Given the description of an element on the screen output the (x, y) to click on. 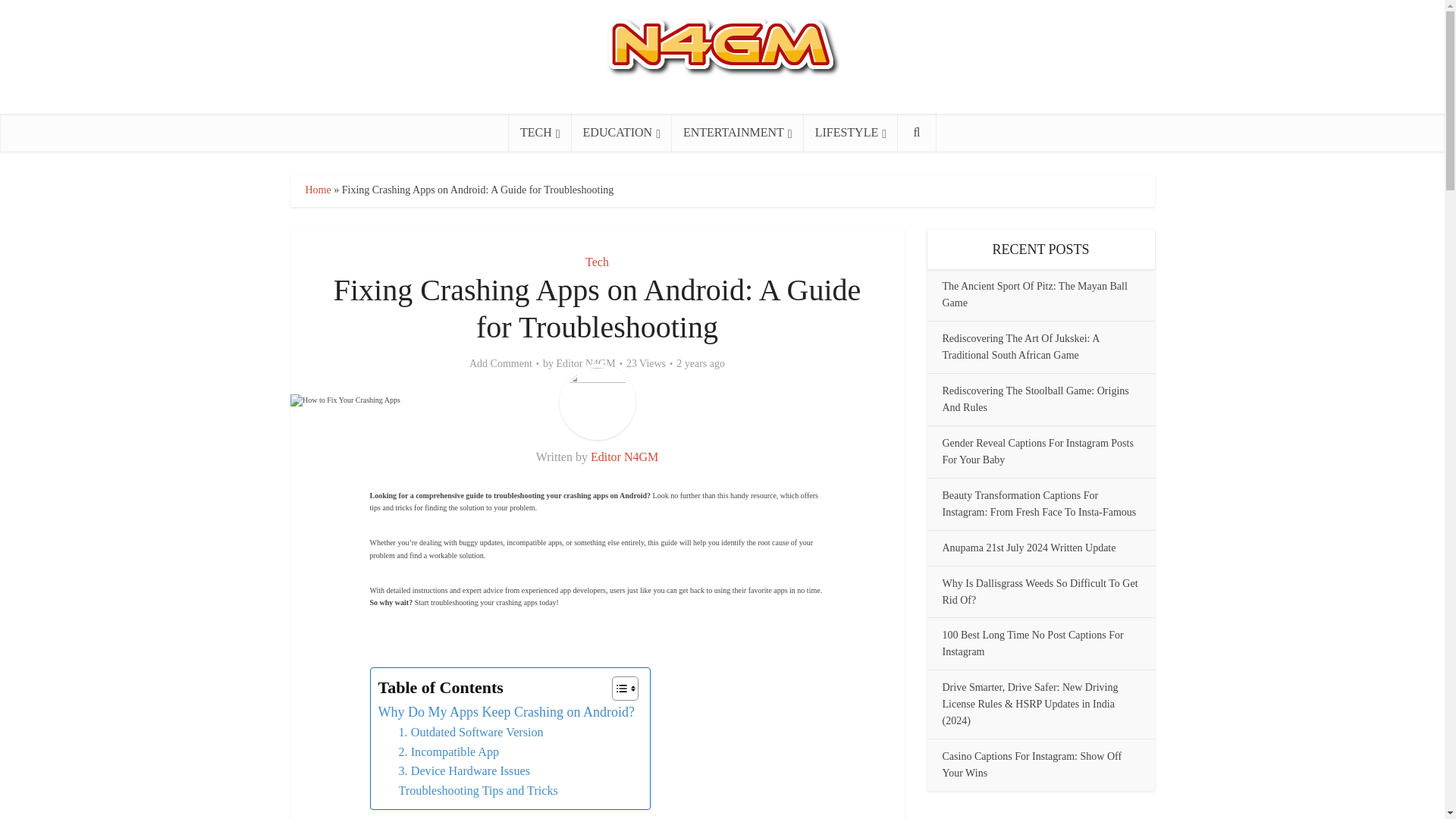
LIFESTYLE (850, 132)
EDUCATION (621, 132)
3. Device Hardware Issues (464, 772)
2. Incompatible App (448, 752)
ENTERTAINMENT (737, 132)
Why Do My Apps Keep Crashing on Android? (505, 712)
Troubleshooting Tips and Tricks (477, 791)
TECH (540, 132)
1. Outdated Software Version (470, 732)
